Given the description of an element on the screen output the (x, y) to click on. 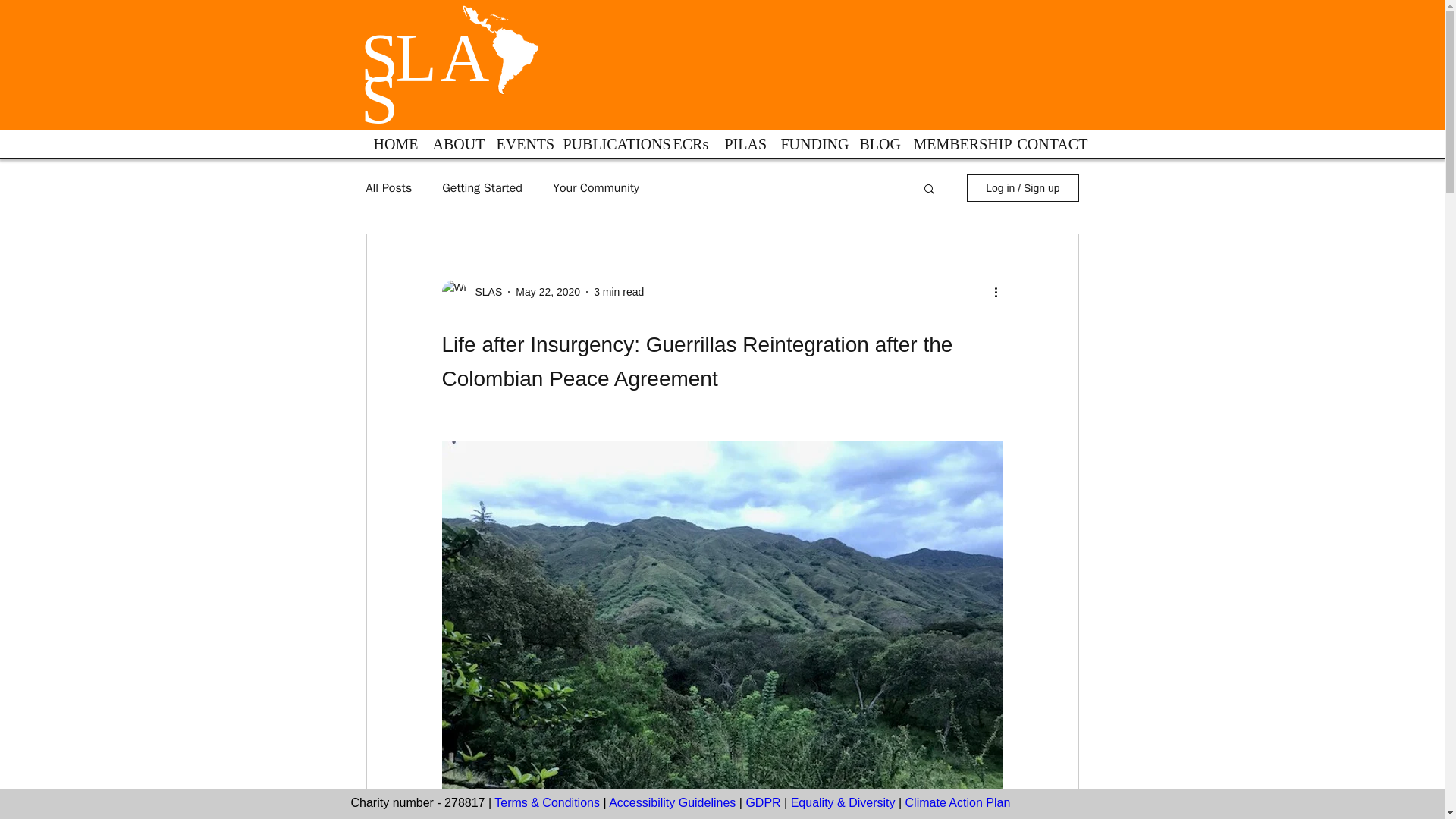
Getting Started (482, 188)
SLAS (425, 78)
MEMBERSHIP (954, 149)
HOME (392, 149)
BLOG (874, 149)
EVENTS (517, 149)
ABOUT (453, 149)
3 min read (618, 291)
ECRs (687, 149)
Your Community (596, 188)
FUNDING (807, 149)
PUBLICATIONS (606, 149)
May 22, 2020 (547, 291)
PILAS (740, 149)
All Posts (388, 188)
